Given the description of an element on the screen output the (x, y) to click on. 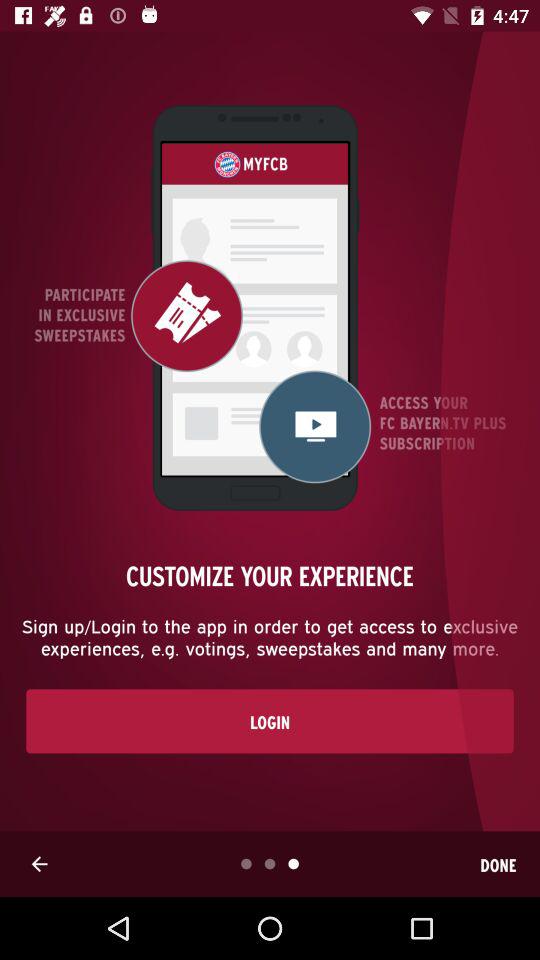
jump to done icon (498, 864)
